Given the description of an element on the screen output the (x, y) to click on. 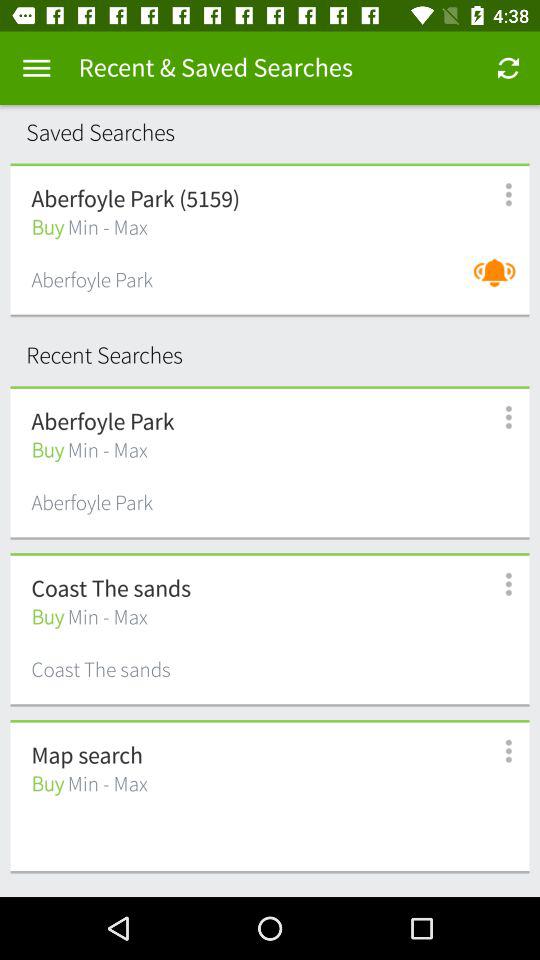
open description (497, 417)
